Given the description of an element on the screen output the (x, y) to click on. 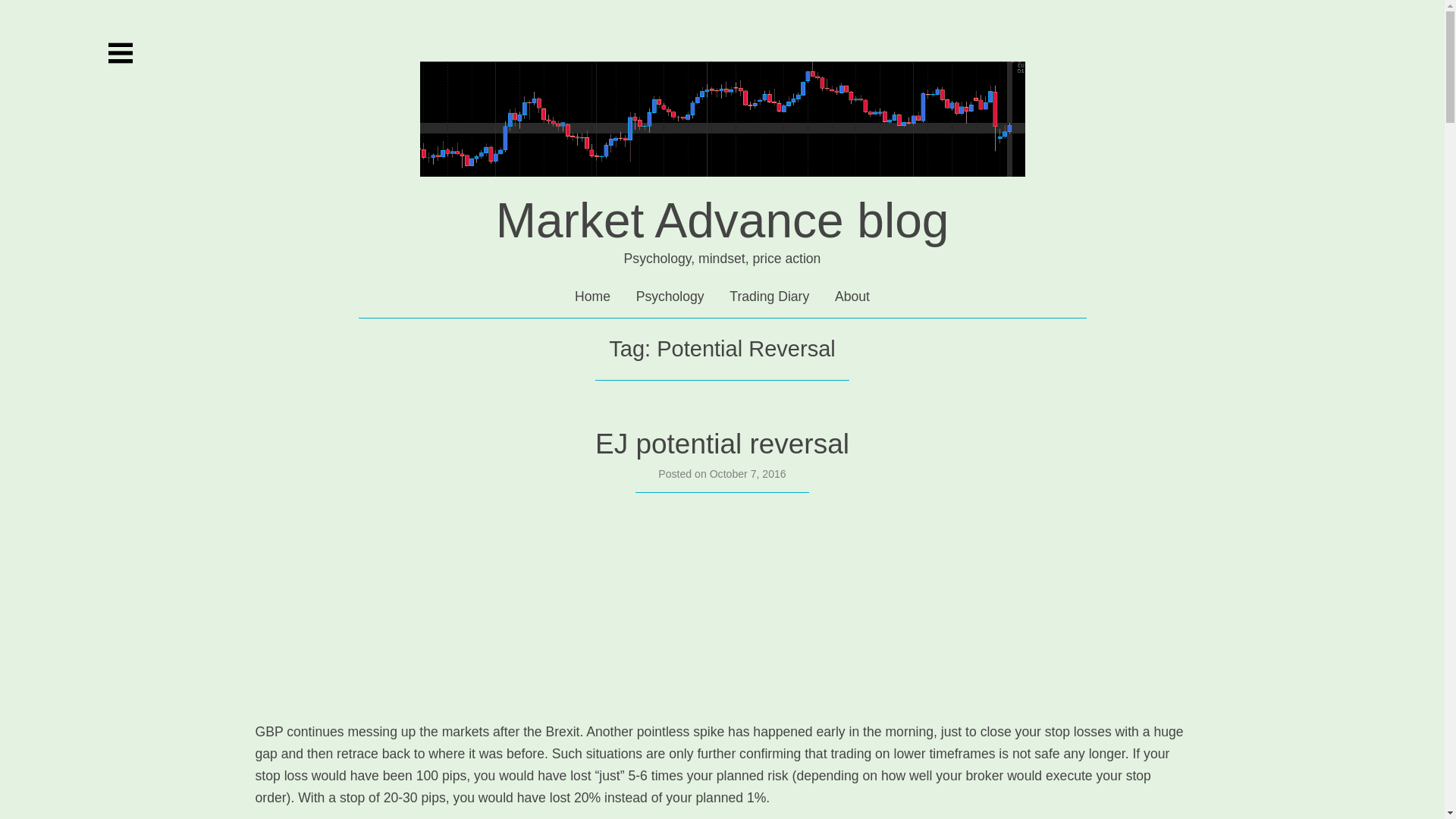
Trading Diary (769, 296)
Market Advance blog (722, 186)
Show sidebar (119, 52)
October 7, 2016 (748, 472)
Market Advance blog (722, 220)
Market Advance blog (722, 220)
Home (592, 296)
About (851, 296)
EJ potential reversal (721, 443)
Psychology (670, 296)
